Given the description of an element on the screen output the (x, y) to click on. 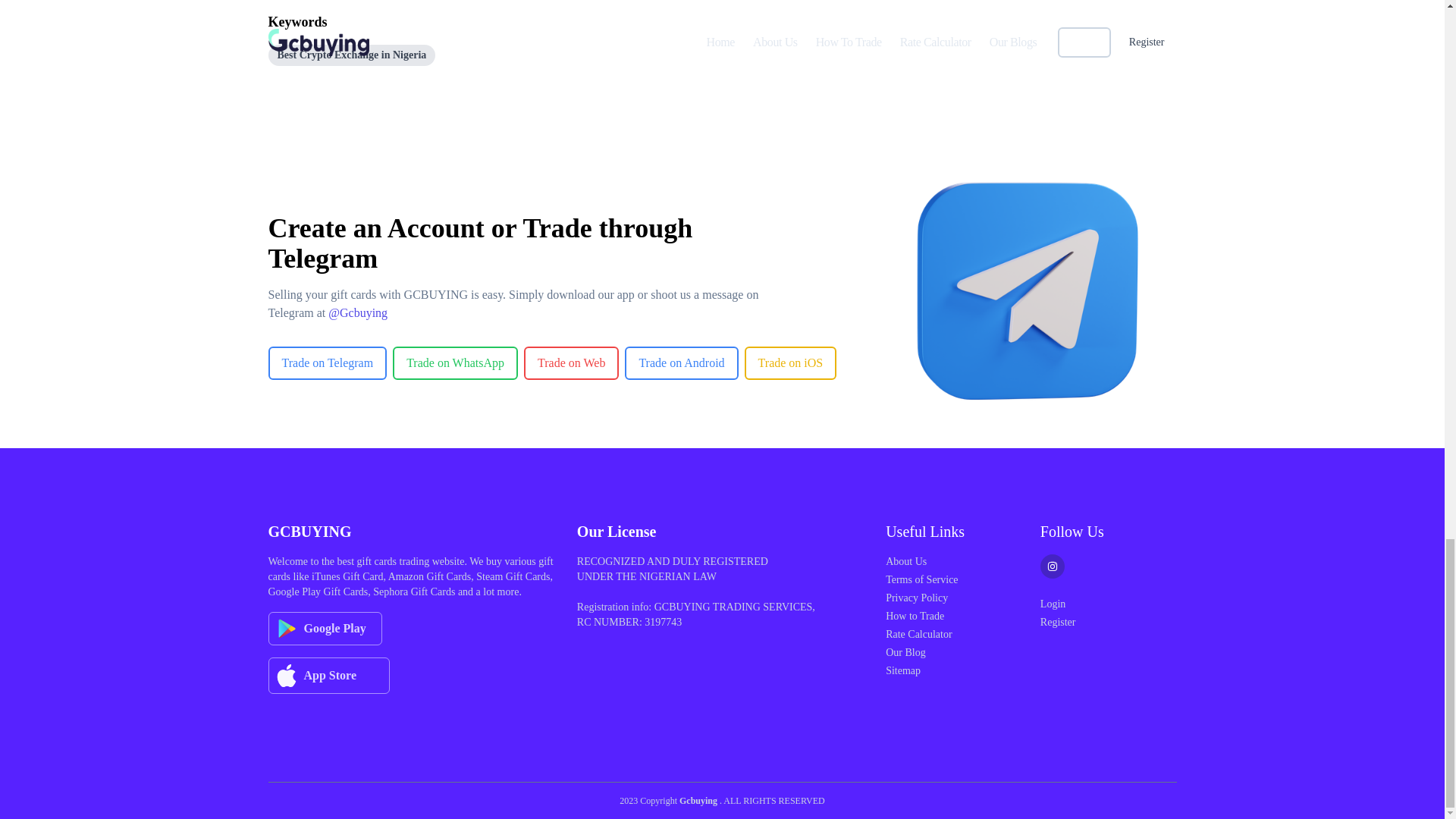
App Store (413, 675)
Trade on Web (571, 363)
Trade on iOS (790, 363)
Trade on WhatsApp (455, 351)
Google Play (324, 628)
Google Play (413, 628)
Trade on Telegram (327, 363)
Trade on Telegram (327, 351)
Trade on Android (681, 351)
Trade on Web (571, 351)
App Store (328, 675)
Trade on iOS (790, 351)
Terms of Service (921, 579)
Trade on WhatsApp (455, 363)
About Us (905, 561)
